Given the description of an element on the screen output the (x, y) to click on. 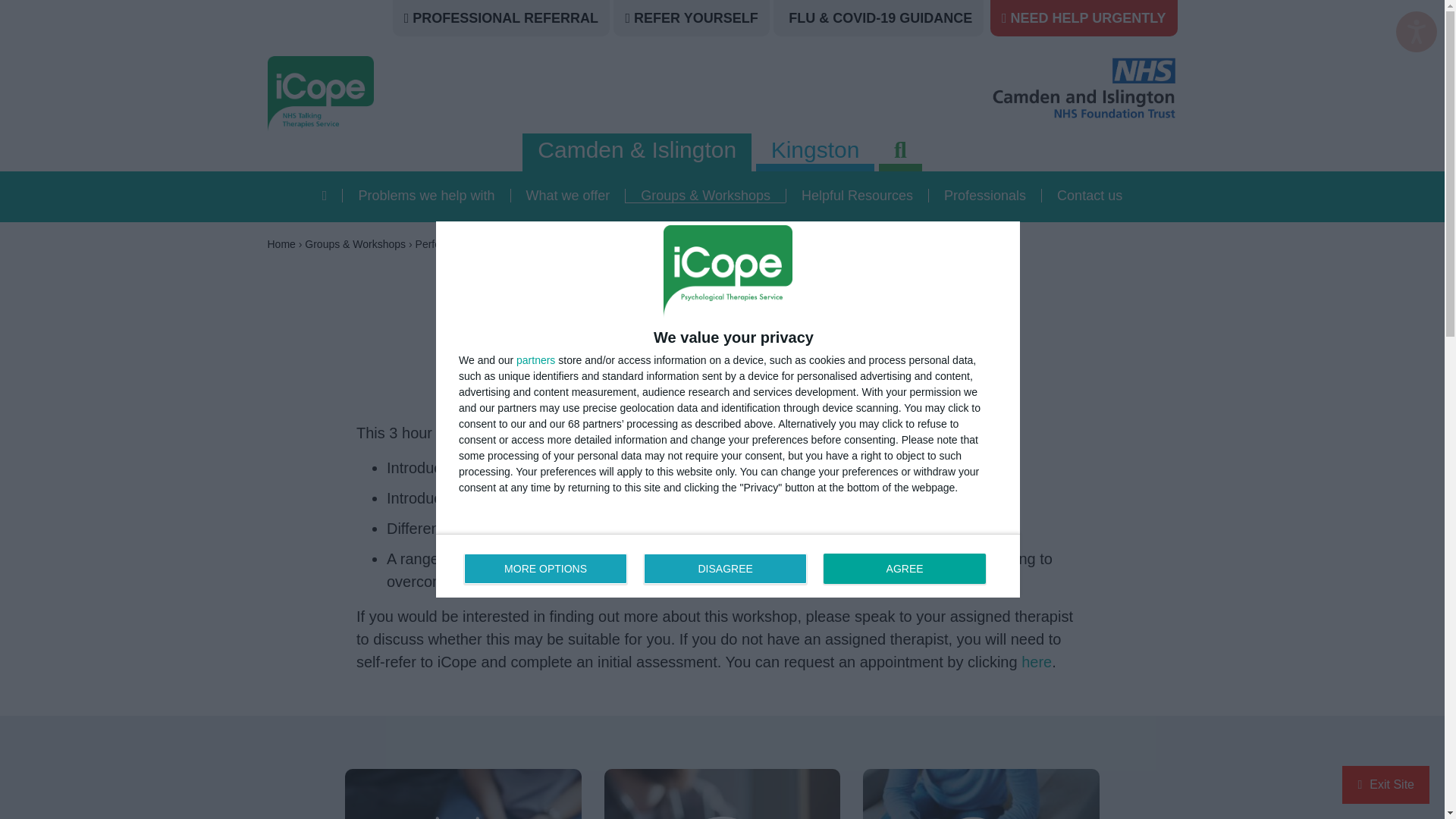
PROFESSIONAL REFERRAL (505, 17)
iCope (410, 94)
NEED HELP URGENTLY (1088, 17)
Problems we help with (425, 195)
Home for Camden and Islington (324, 195)
AGREE (727, 565)
MORE OPTIONS (904, 568)
Listen with the ReachDeck Toolbar (545, 568)
Kingston (1416, 31)
REFER YOURSELF (815, 149)
partners (695, 17)
DISAGREE (535, 359)
